Given the description of an element on the screen output the (x, y) to click on. 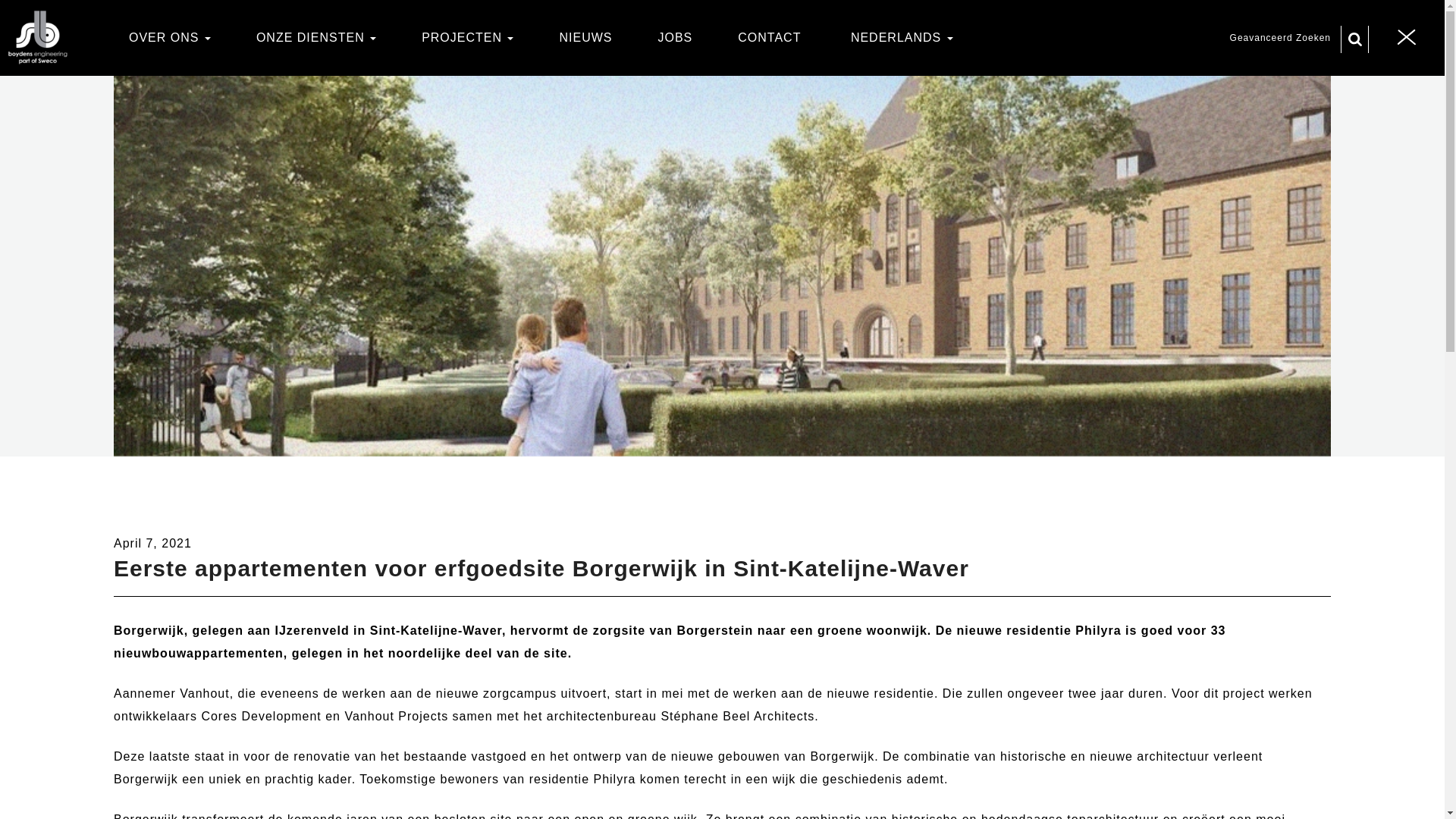
ONZE DIENSTEN Element type: text (315, 35)
Toggle navigation Element type: text (1406, 37)
PROJECTEN Element type: text (467, 35)
 NEDERLANDS Element type: text (899, 35)
JOBS Element type: text (674, 35)
OVER ONS Element type: text (169, 35)
NIEUWS Element type: text (585, 35)
Geavanceerd Zoeken Element type: text (1280, 37)
CONTACT Element type: text (769, 35)
